Given the description of an element on the screen output the (x, y) to click on. 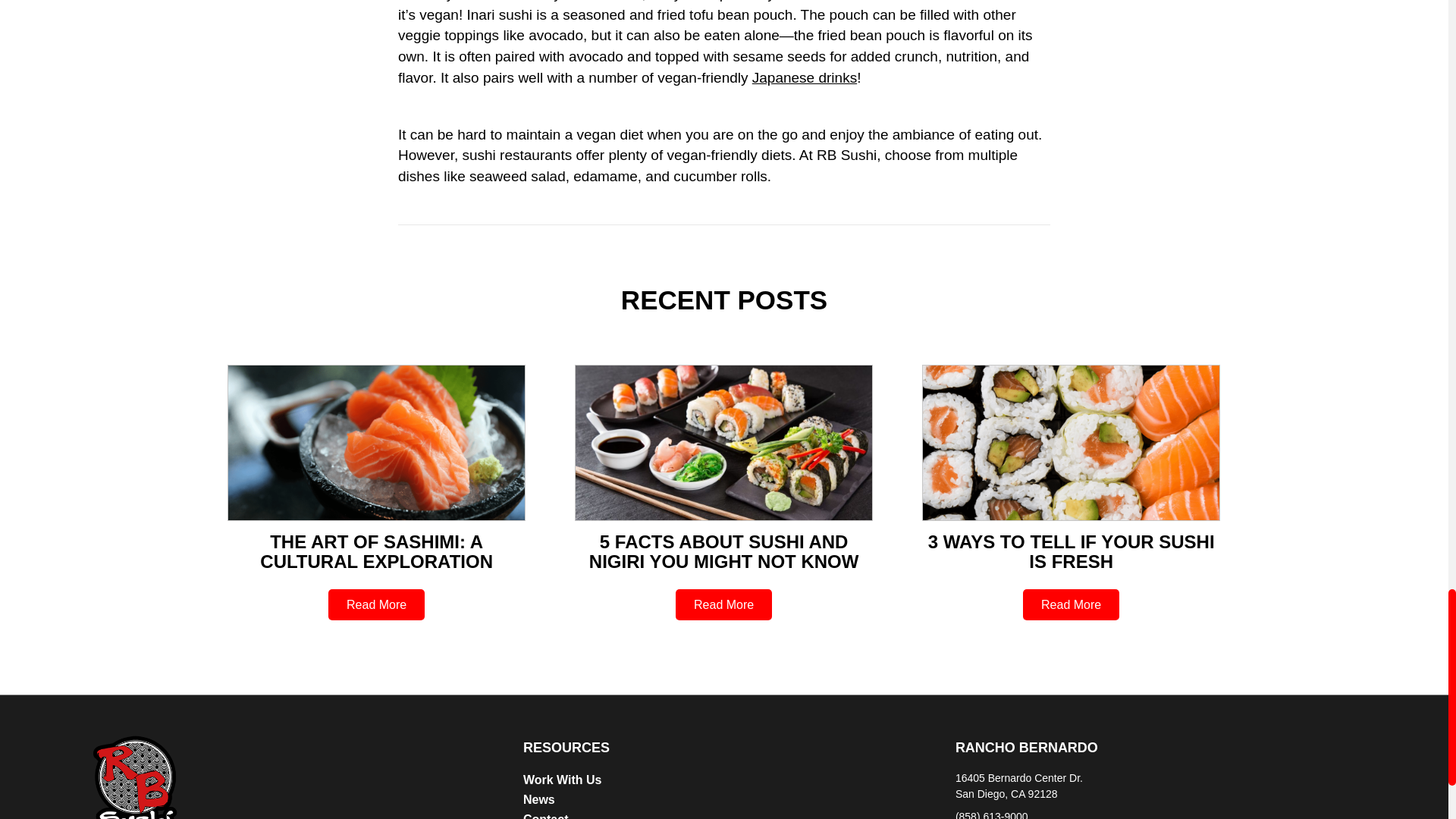
Japanese drinks (804, 77)
3 Ways To Tell If Your Sushi Is Fresh (1071, 551)
THE ART OF SASHIMI: A CULTURAL EXPLORATION (376, 551)
5 FACTS ABOUT SUSHI AND NIGIRI YOU MIGHT NOT KNOW (724, 551)
3 WAYS TO TELL IF YOUR SUSHI IS FRESH (1071, 551)
Read More (1071, 603)
RANCHO BERNARDO (1026, 747)
5 Facts About Sushi and Nigiri You Might Not Know (724, 551)
5 Facts About Sushi and Nigiri You Might Not Know (723, 441)
Read More (1071, 603)
